Given the description of an element on the screen output the (x, y) to click on. 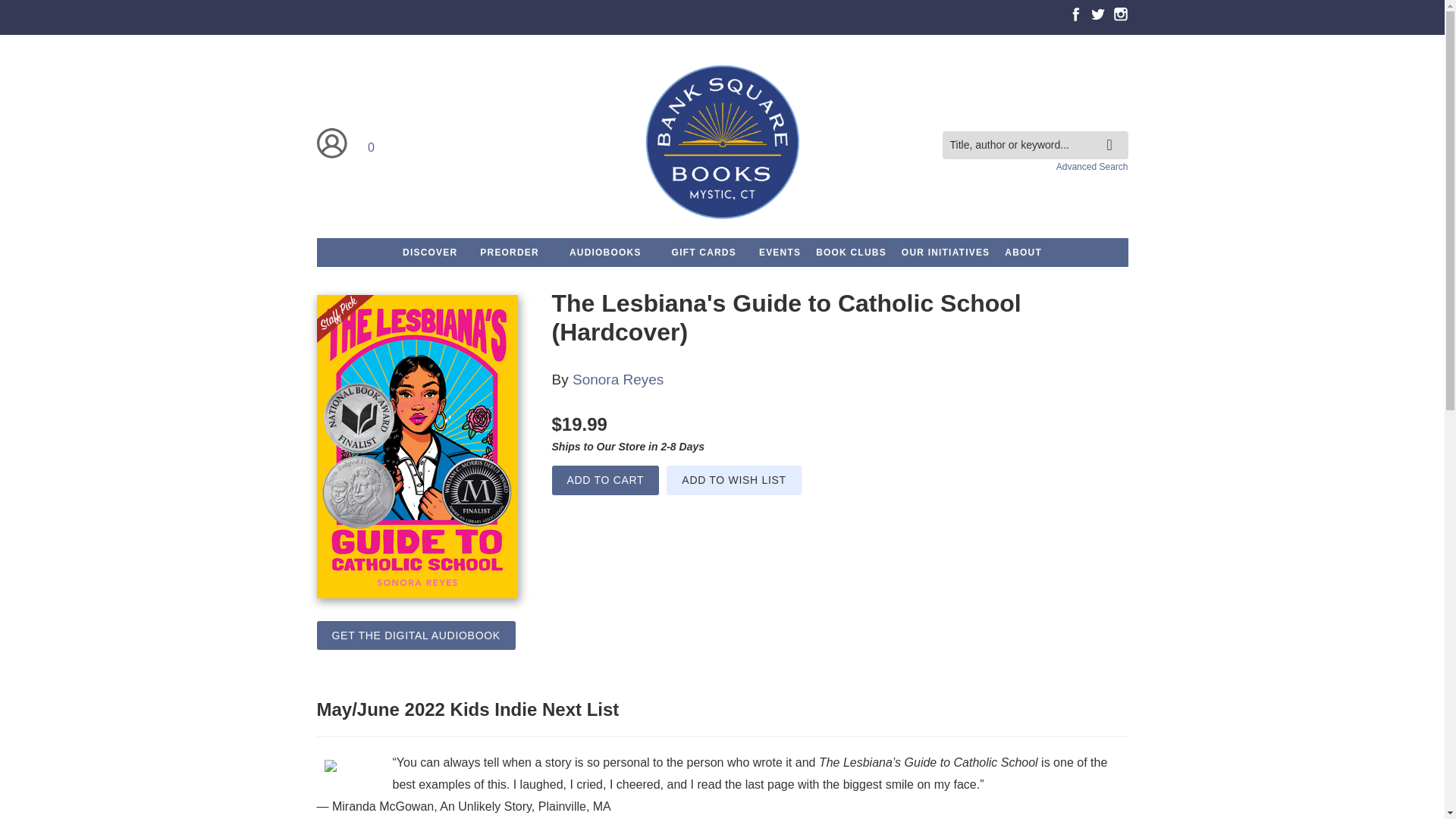
Get the Digital Audiobook (416, 635)
GIFT CARDS (703, 252)
EVENTS (779, 252)
Home (721, 144)
search (1112, 133)
search (1112, 133)
DISCOVER (429, 252)
AUDIOBOOKS (605, 252)
Advanced Search (1092, 166)
Add to Cart (605, 480)
Title, author or keyword... (1034, 144)
OUR INITIATIVES (945, 252)
PREORDER (509, 252)
ABOUT (1023, 252)
